Given the description of an element on the screen output the (x, y) to click on. 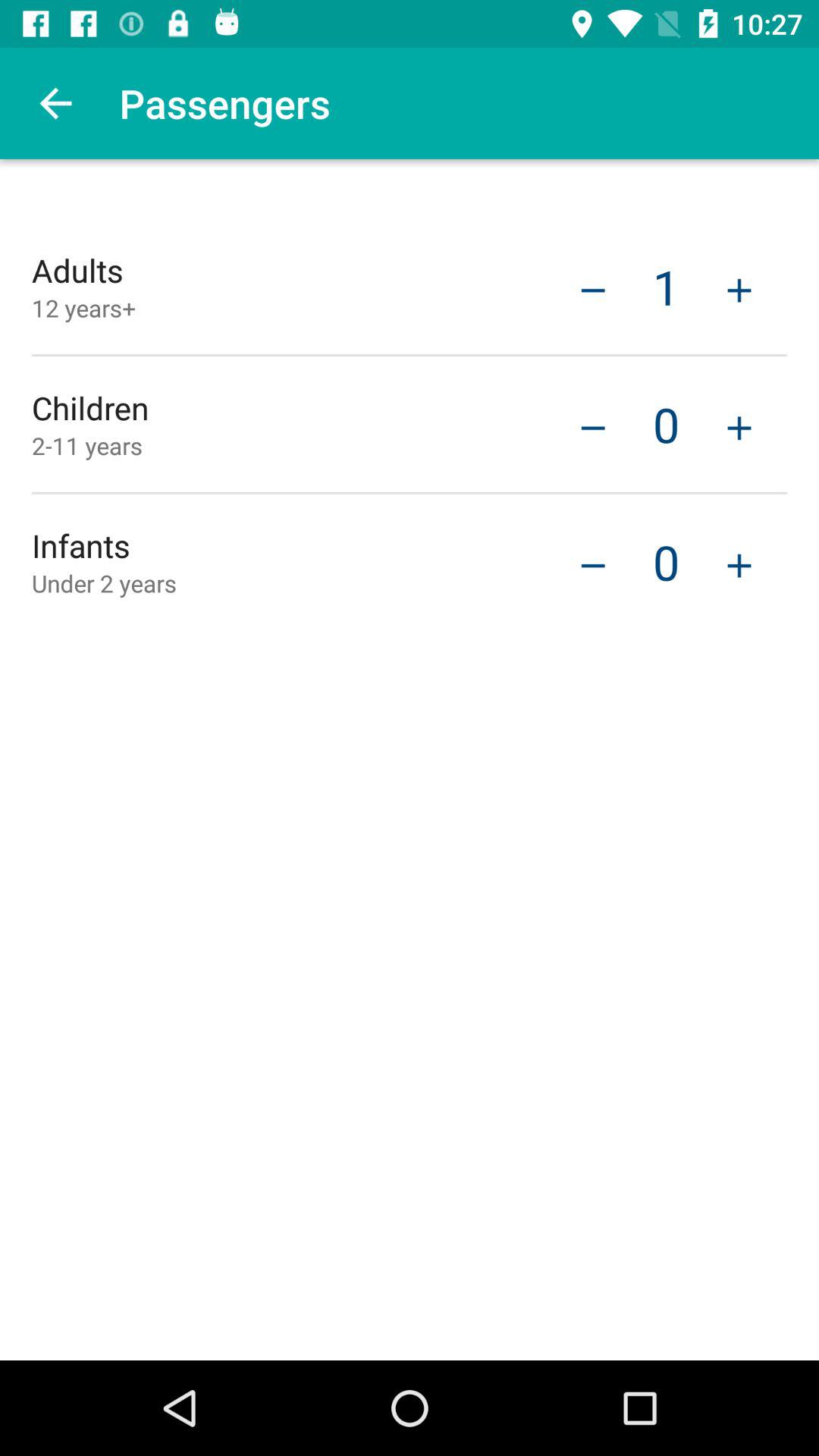
choose the icon to the right of children item (592, 426)
